Given the description of an element on the screen output the (x, y) to click on. 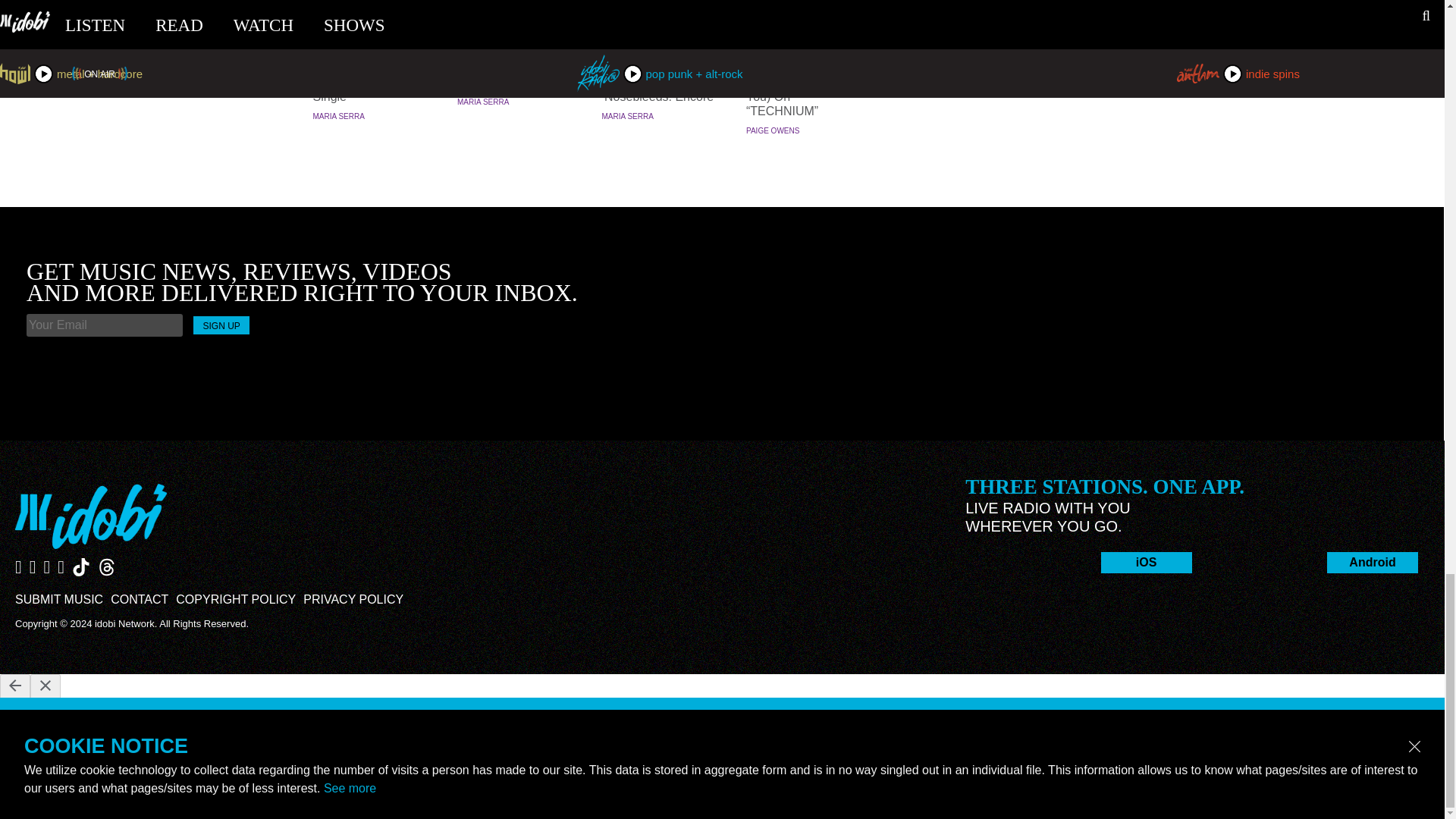
Maria Serra (482, 101)
MARIA SERRA (482, 101)
MARIA SERRA (338, 116)
NEWS (514, 36)
NEWS (369, 36)
SIGN UP (220, 325)
Paige Owens (772, 130)
PAIGE OWENS (772, 130)
Maria Serra (627, 116)
Maria Serra (338, 116)
NEWS (659, 36)
NEWS (803, 36)
MARIA SERRA (627, 116)
